Given the description of an element on the screen output the (x, y) to click on. 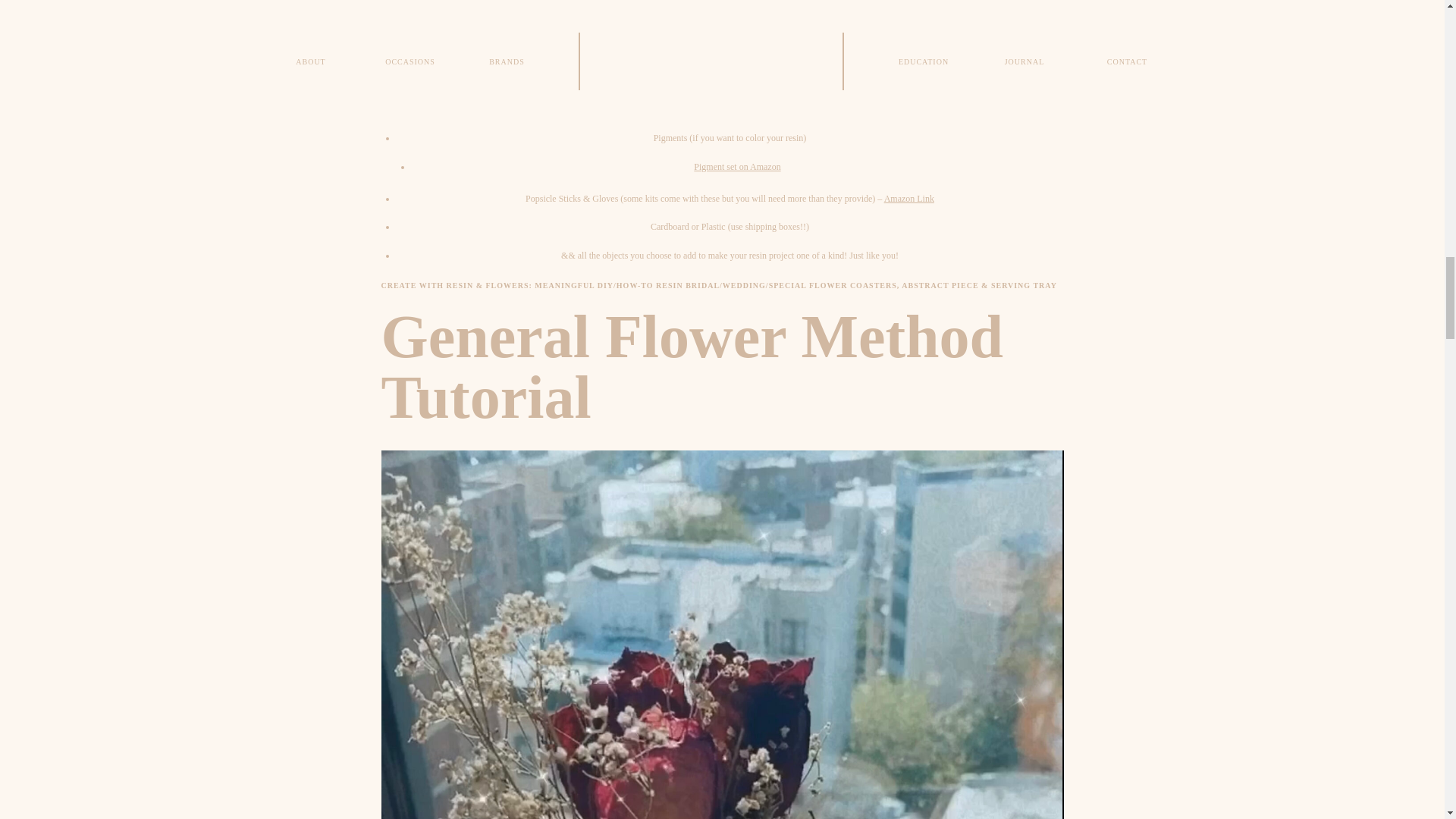
Purchase on Amazon (652, 20)
Pigment set on Amazon (737, 166)
Amazon Link (908, 198)
Purchase on Michaels (737, 77)
Purchase on Amazon (696, 50)
Amazon Link (793, 109)
